Given the description of an element on the screen output the (x, y) to click on. 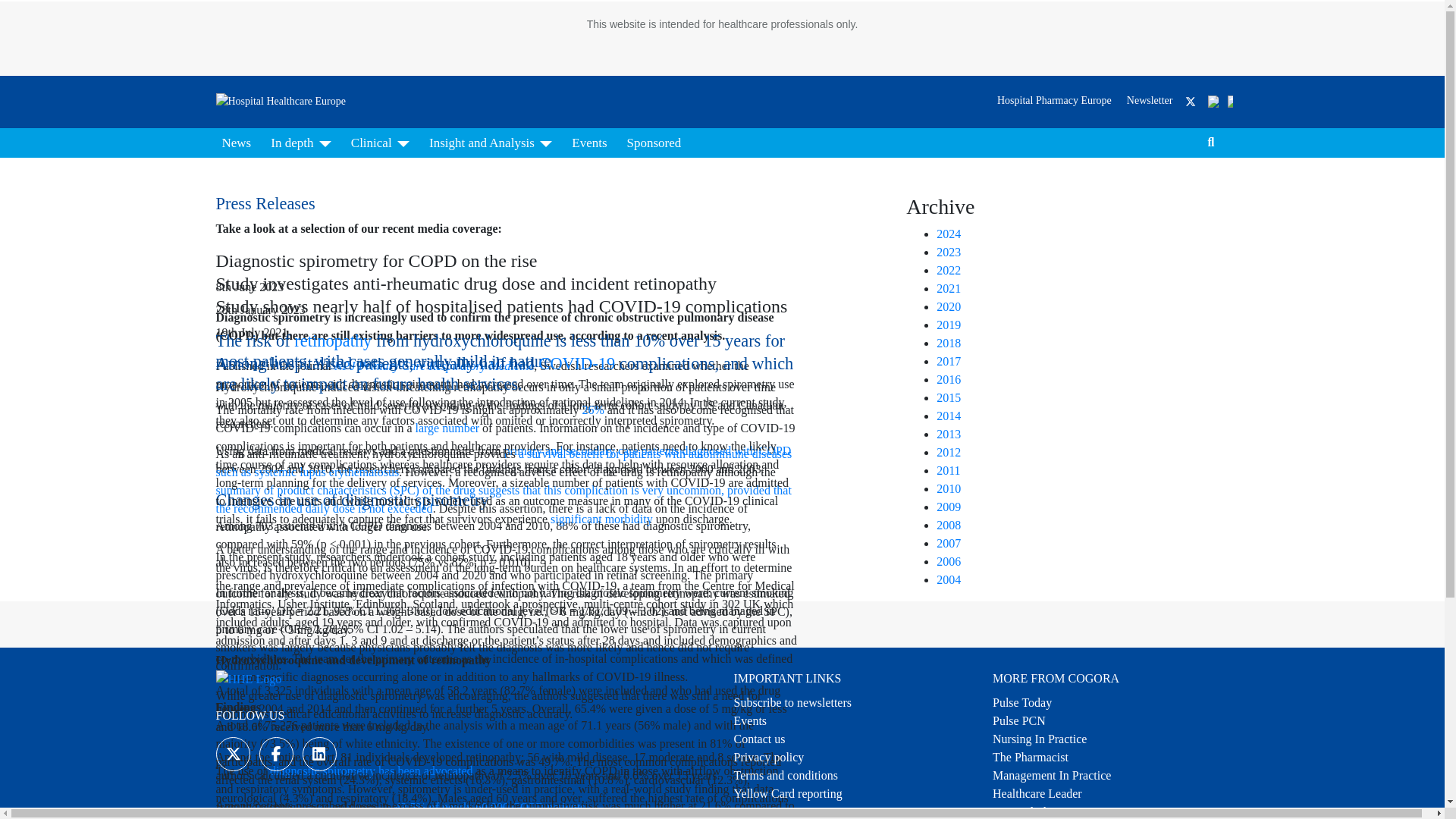
Subscribe to newsletters (792, 702)
Healthcare Leader (1036, 793)
Insight and Analysis (490, 142)
Management In Practice (1051, 775)
Contact us (759, 738)
Privacy policy (769, 757)
Clinical (379, 142)
Nursing In Practice (1039, 738)
Hospital Pharmacy Europe (1054, 100)
Hospital Pharmacy Europe (1057, 811)
